Given the description of an element on the screen output the (x, y) to click on. 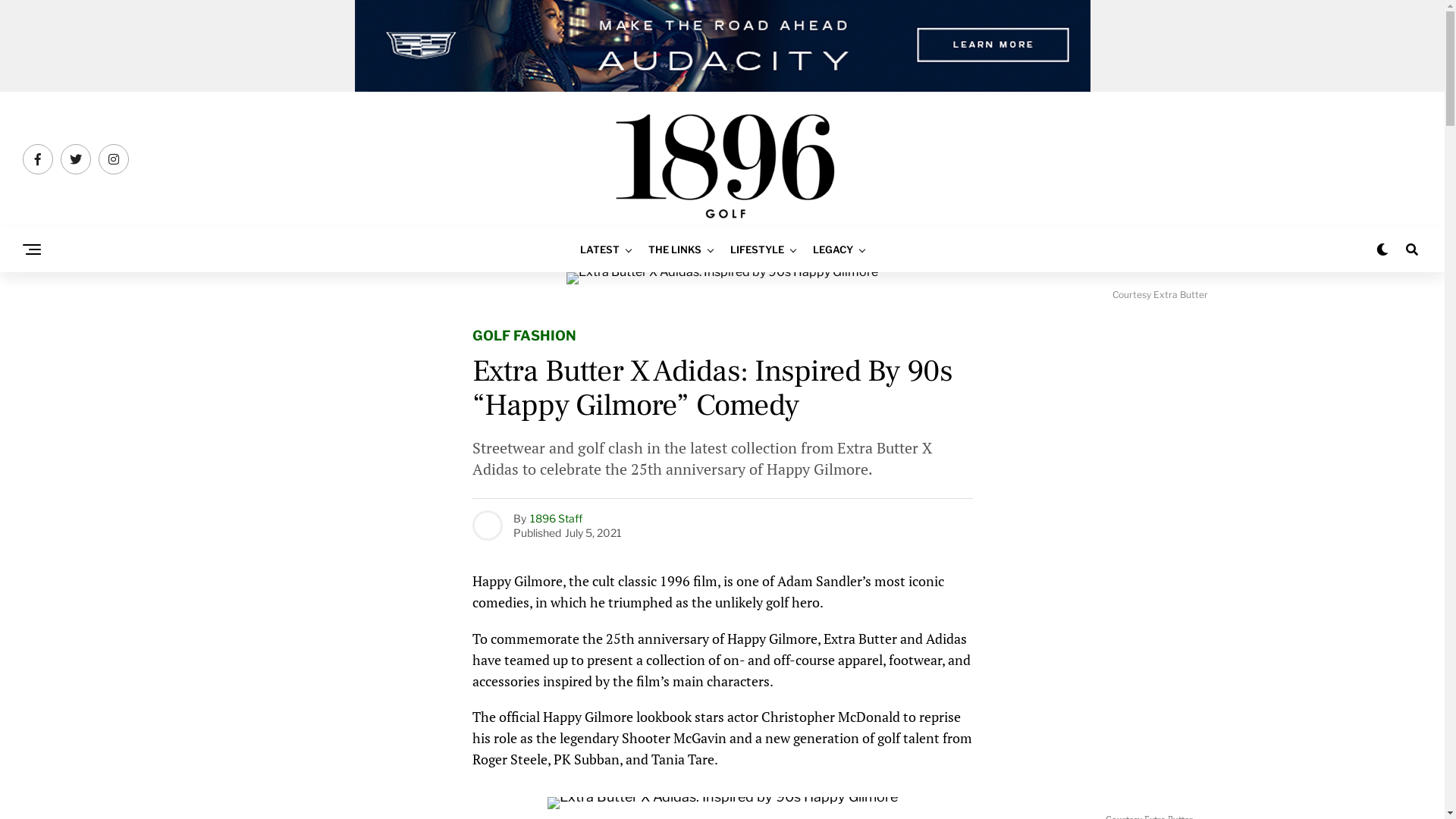
THE LINKS Element type: text (674, 249)
LIFESTYLE Element type: text (756, 249)
GOLF FASHION Element type: text (523, 336)
LATEST Element type: text (599, 249)
1896 Staff Element type: text (555, 517)
LEGACY Element type: text (832, 249)
